Given the description of an element on the screen output the (x, y) to click on. 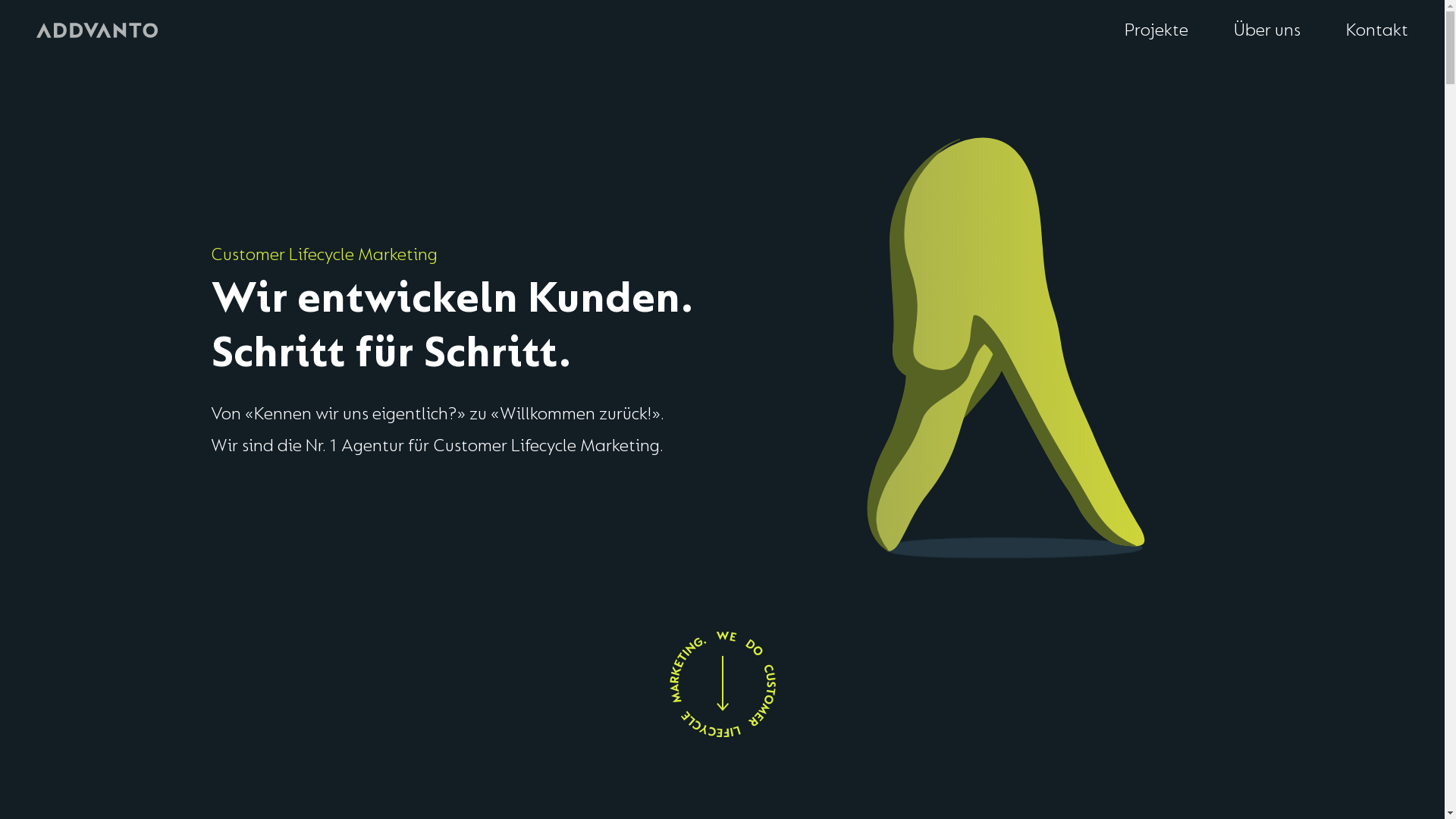
Kontakt Element type: text (1377, 30)
Projekte Element type: text (1156, 30)
